Given the description of an element on the screen output the (x, y) to click on. 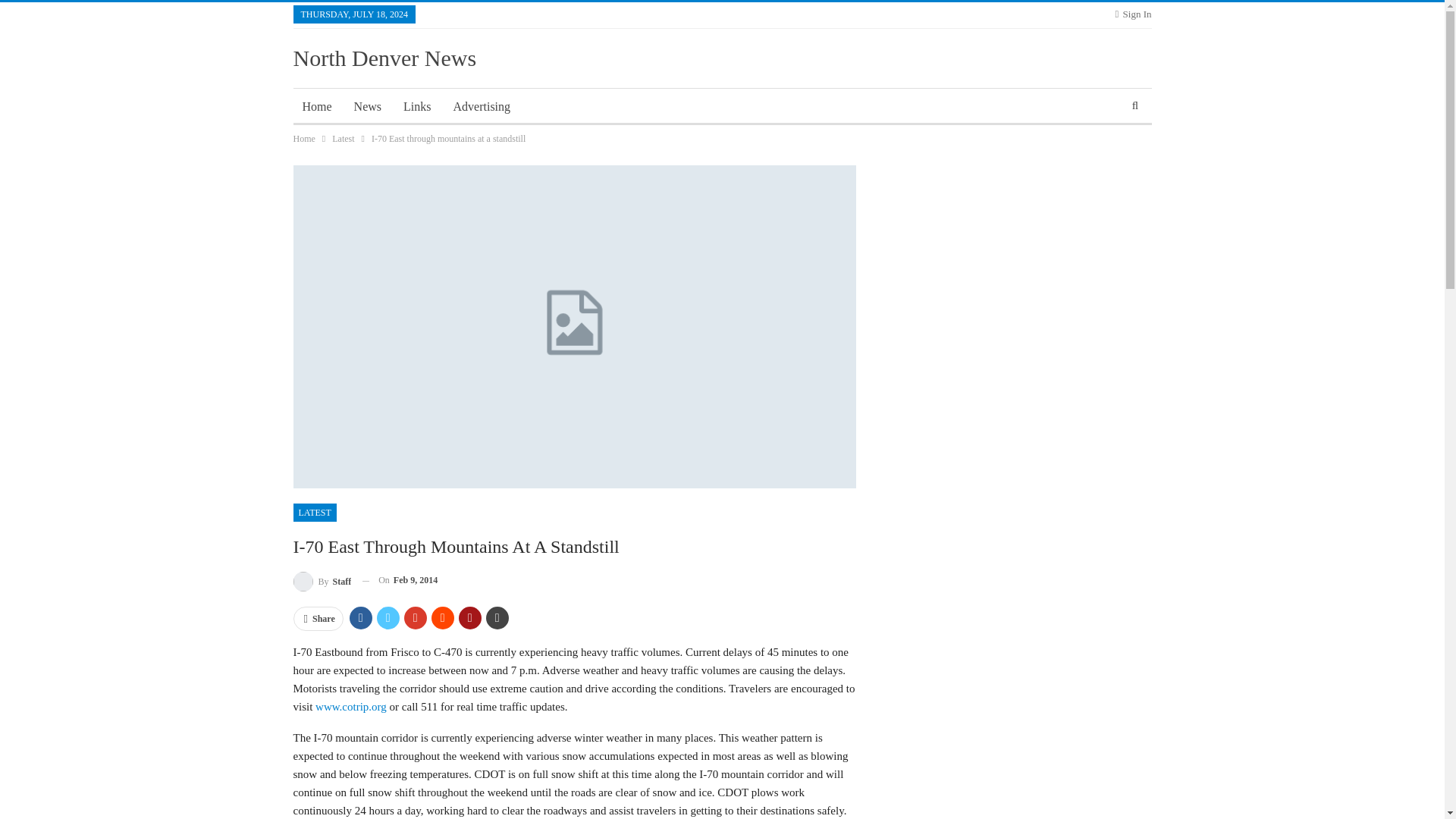
Links (416, 106)
Latest (342, 138)
News (367, 106)
By Staff (321, 580)
Links (416, 106)
Advertising (481, 106)
LATEST (314, 512)
Browse Author Articles (321, 580)
North Denver News (384, 57)
Home (303, 138)
Home (316, 106)
Sign In (1133, 13)
www.cotrip.org (351, 706)
